Given the description of an element on the screen output the (x, y) to click on. 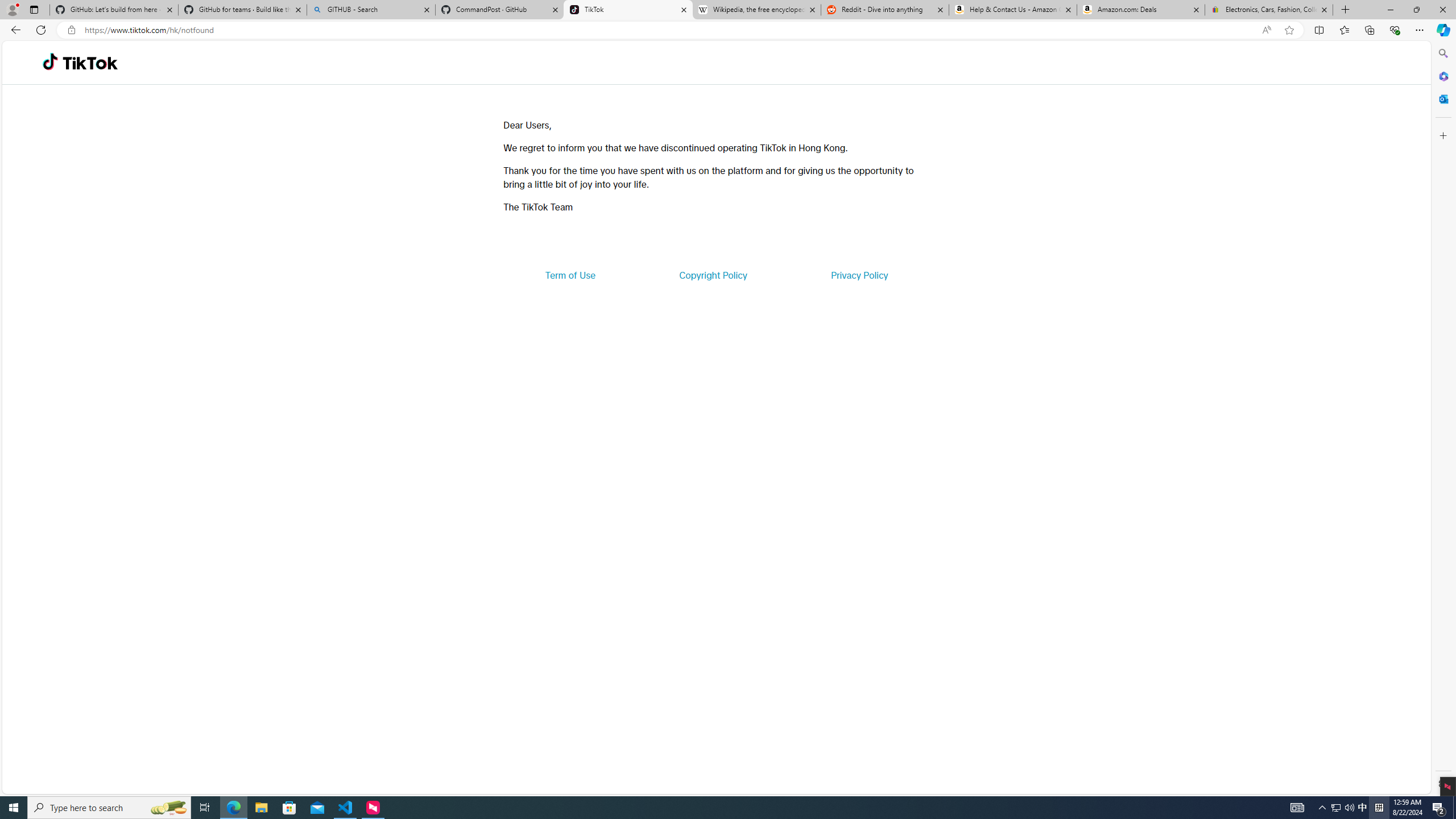
GITHUB - Search (370, 9)
Privacy Policy (858, 274)
Wikipedia, the free encyclopedia (756, 9)
Electronics, Cars, Fashion, Collectibles & More | eBay (1268, 9)
Reddit - Dive into anything (884, 9)
Amazon.com: Deals (1140, 9)
